Given the description of an element on the screen output the (x, y) to click on. 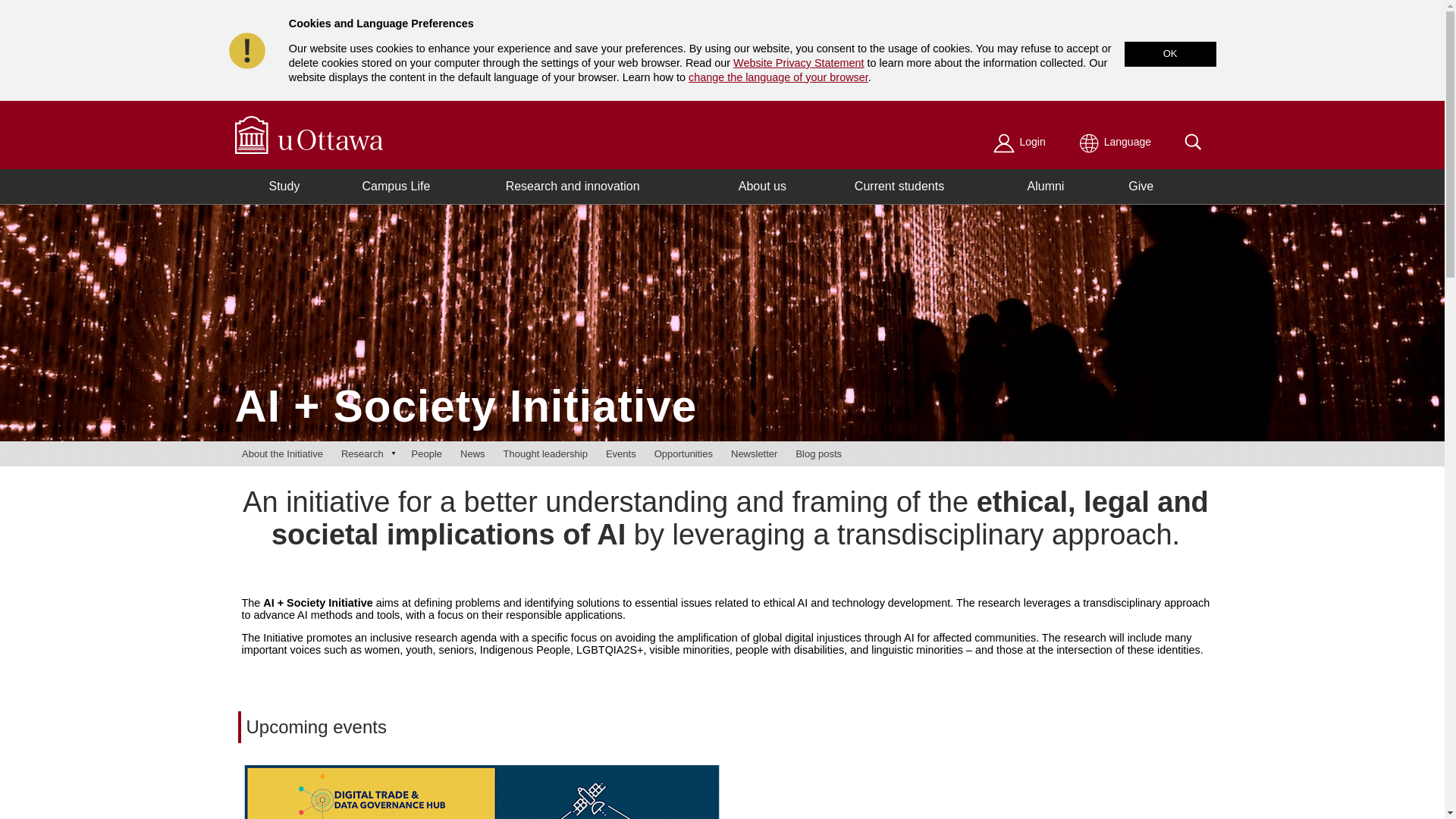
Newsletter Element type: text (753, 454)
Home Element type: hover (310, 134)
News Element type: text (472, 454)
OK Element type: text (1170, 53)
Opportunities Element type: text (683, 454)
Jump to Main Content Element type: text (53, 0)
Current students Element type: text (899, 186)
Give Element type: text (1140, 186)
Campus Life Element type: text (395, 186)
Language Element type: text (1116, 141)
Thought leadership Element type: text (545, 454)
Alumni Element type: text (1045, 186)
About us Element type: text (762, 186)
Research and innovation Element type: text (572, 186)
Research Element type: text (367, 454)
Jump to Navigation Element type: text (46, 0)
Login Element type: text (1021, 141)
People Element type: text (426, 454)
change the language of your browser Element type: text (778, 77)
Study Element type: text (284, 186)
About the Initiative Element type: text (282, 454)
Website Privacy Statement Element type: text (798, 62)
Blog posts Element type: text (818, 454)
Events Element type: text (620, 454)
